Given the description of an element on the screen output the (x, y) to click on. 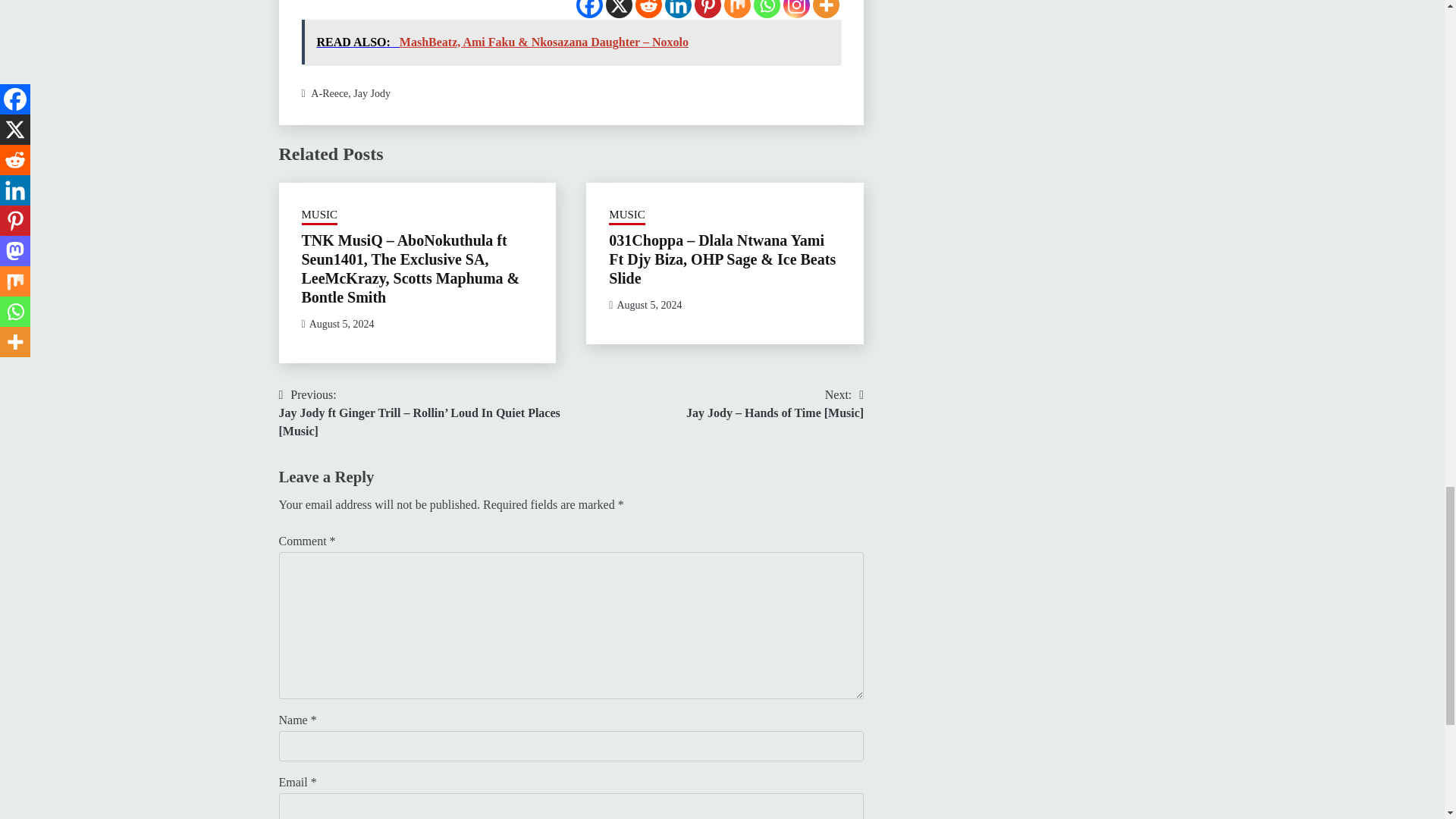
Linkedin (678, 9)
Whatsapp (767, 9)
Facebook (589, 9)
Mix (737, 9)
X (618, 9)
Instagram (796, 9)
Reddit (648, 9)
More (826, 9)
Pinterest (707, 9)
